Given the description of an element on the screen output the (x, y) to click on. 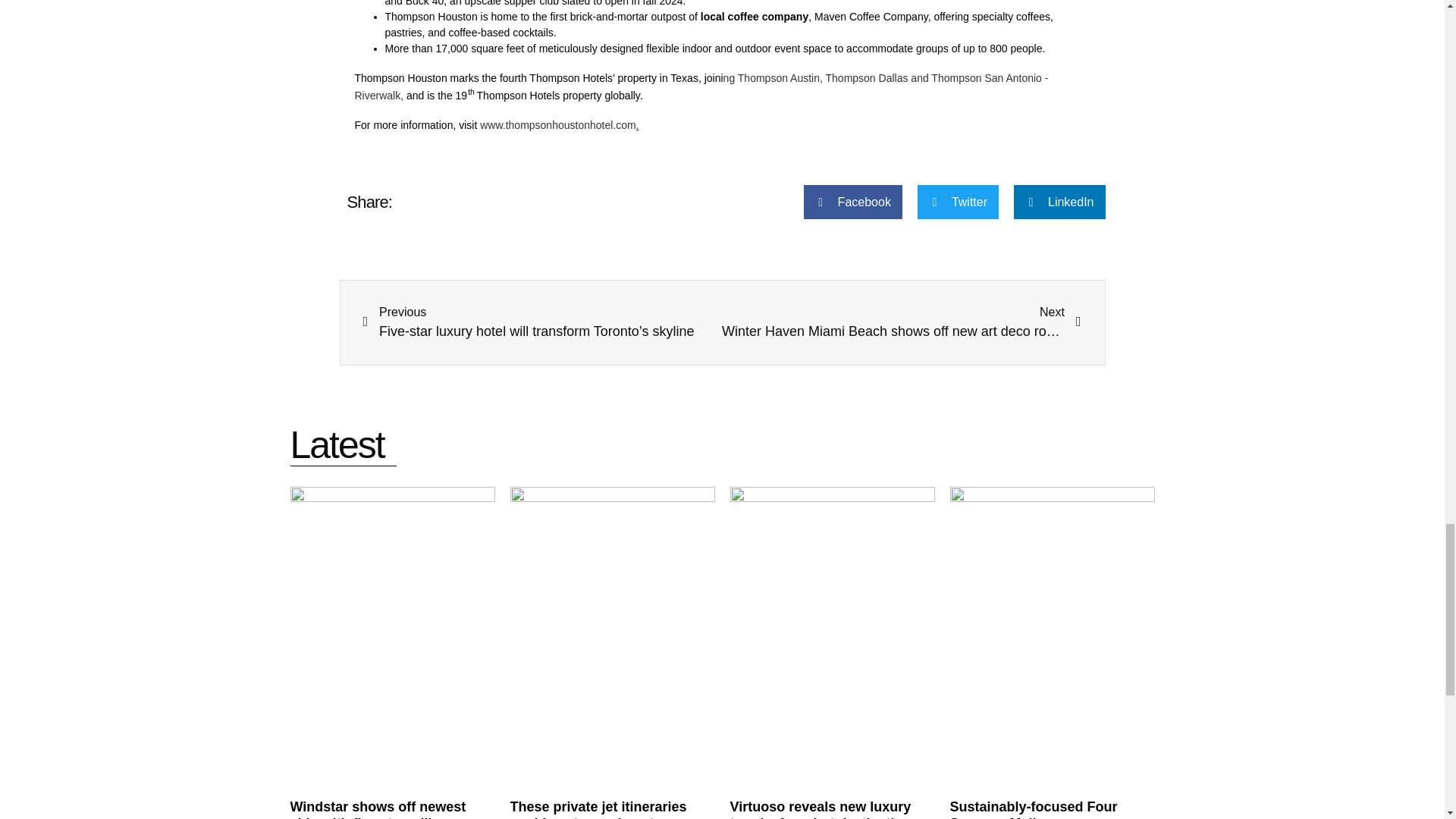
www.thompsonhoustonhotel.com (557, 124)
Thompson Dallas (901, 322)
Thompson San Antonio -Riverwalk (866, 78)
Thompson Austin (701, 86)
Windstar shows off newest ship with floor-to-ceiling windows (778, 78)
